Given the description of an element on the screen output the (x, y) to click on. 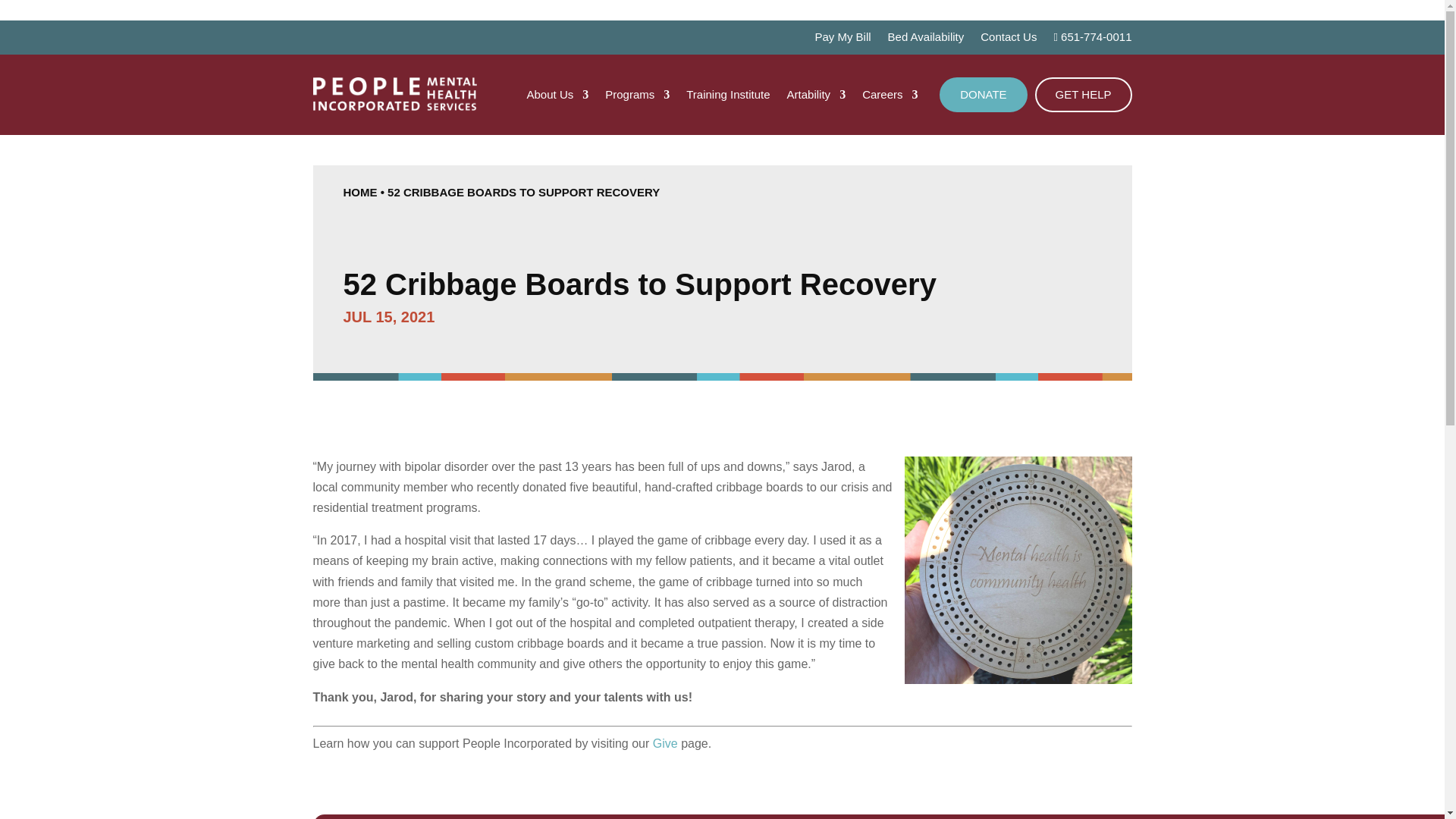
Bed Availability (925, 40)
Artability (816, 97)
About Us (558, 97)
Go to People Incorporated. (359, 192)
Careers (889, 97)
Programs (637, 97)
651-774-0011 (1091, 40)
DONATE (982, 94)
Training Institute (727, 97)
Pay My Bill (841, 40)
Contact Us (1007, 40)
GET HELP (1083, 94)
